Given the description of an element on the screen output the (x, y) to click on. 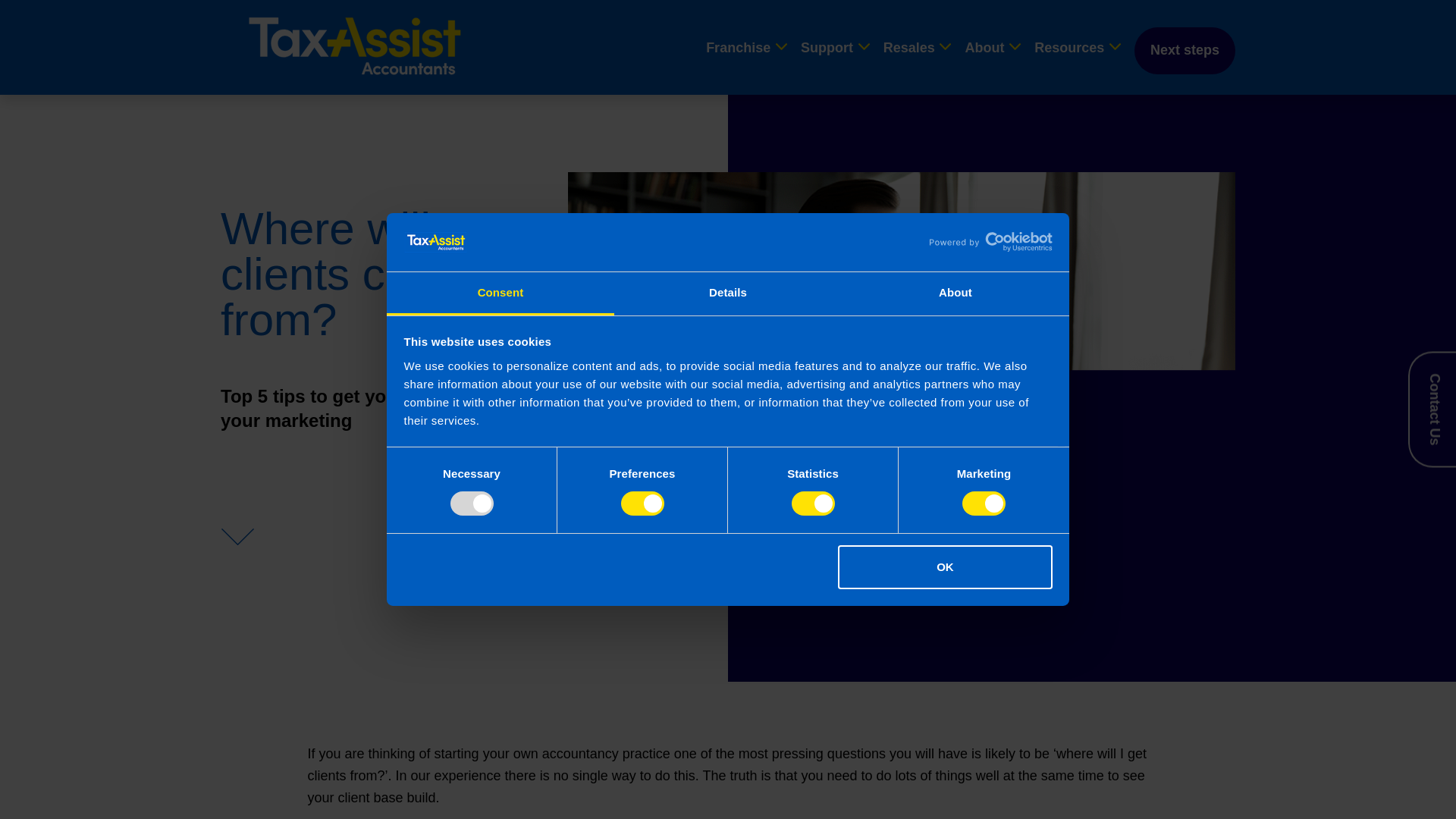
OK (944, 566)
Details (727, 293)
Consent (500, 293)
About (954, 293)
